Given the description of an element on the screen output the (x, y) to click on. 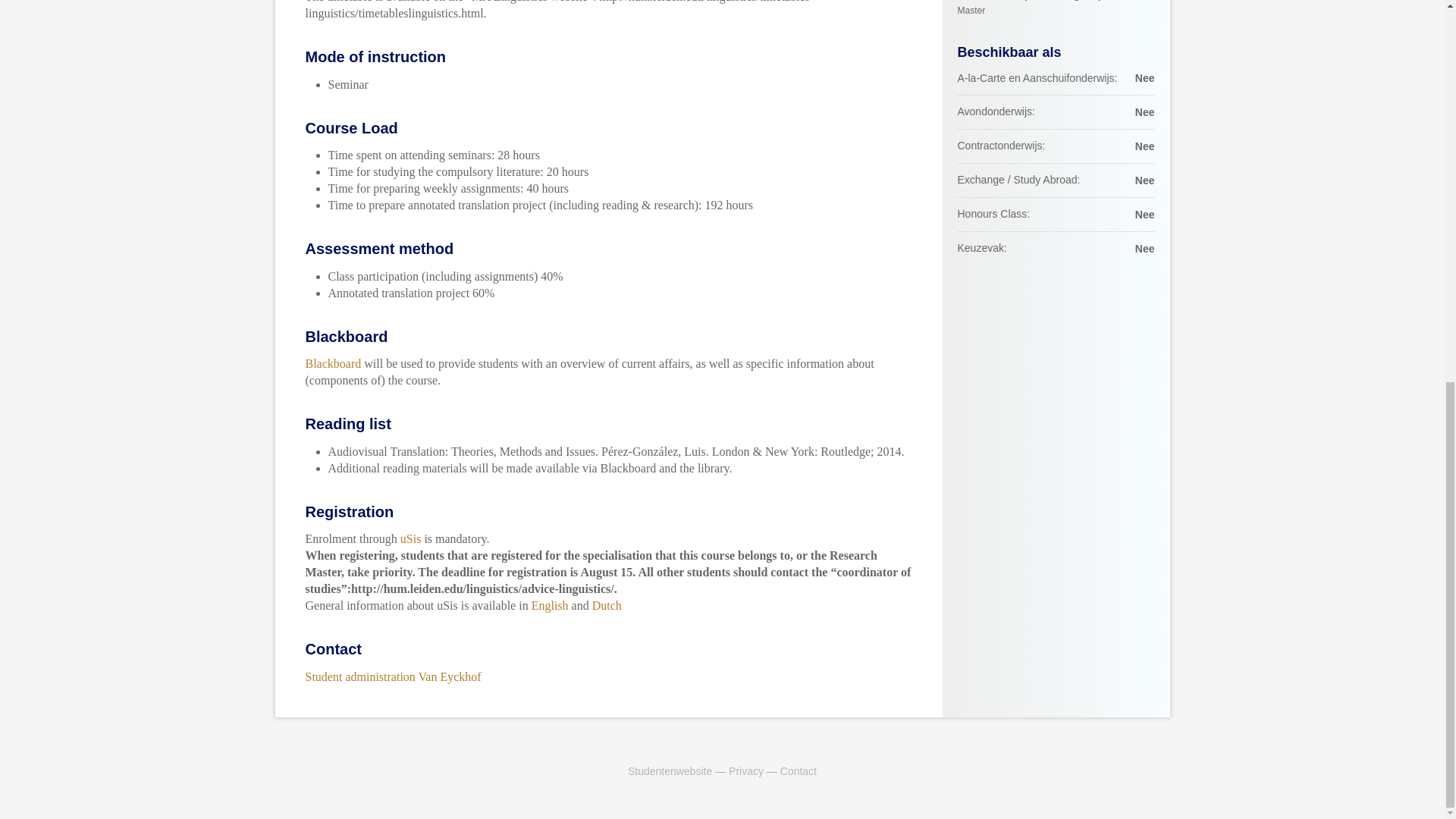
English (550, 604)
Privacy (745, 770)
Studentenwebsite (669, 770)
Dutch (606, 604)
Blackboard (332, 363)
uSis (411, 538)
Student administration Van Eyckhof (392, 675)
Contact (798, 770)
